Given the description of an element on the screen output the (x, y) to click on. 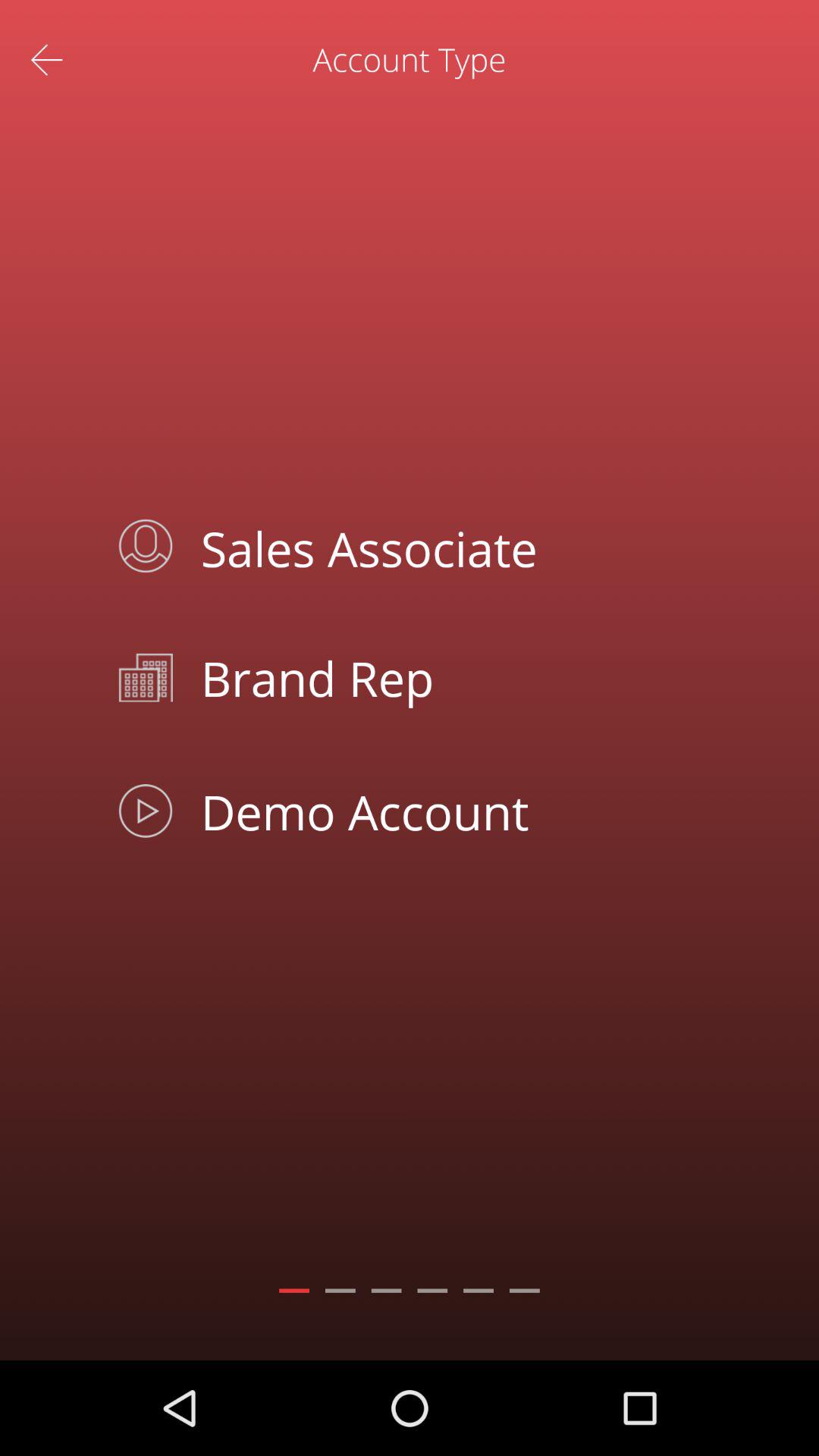
turn on the item above demo account item (444, 677)
